Given the description of an element on the screen output the (x, y) to click on. 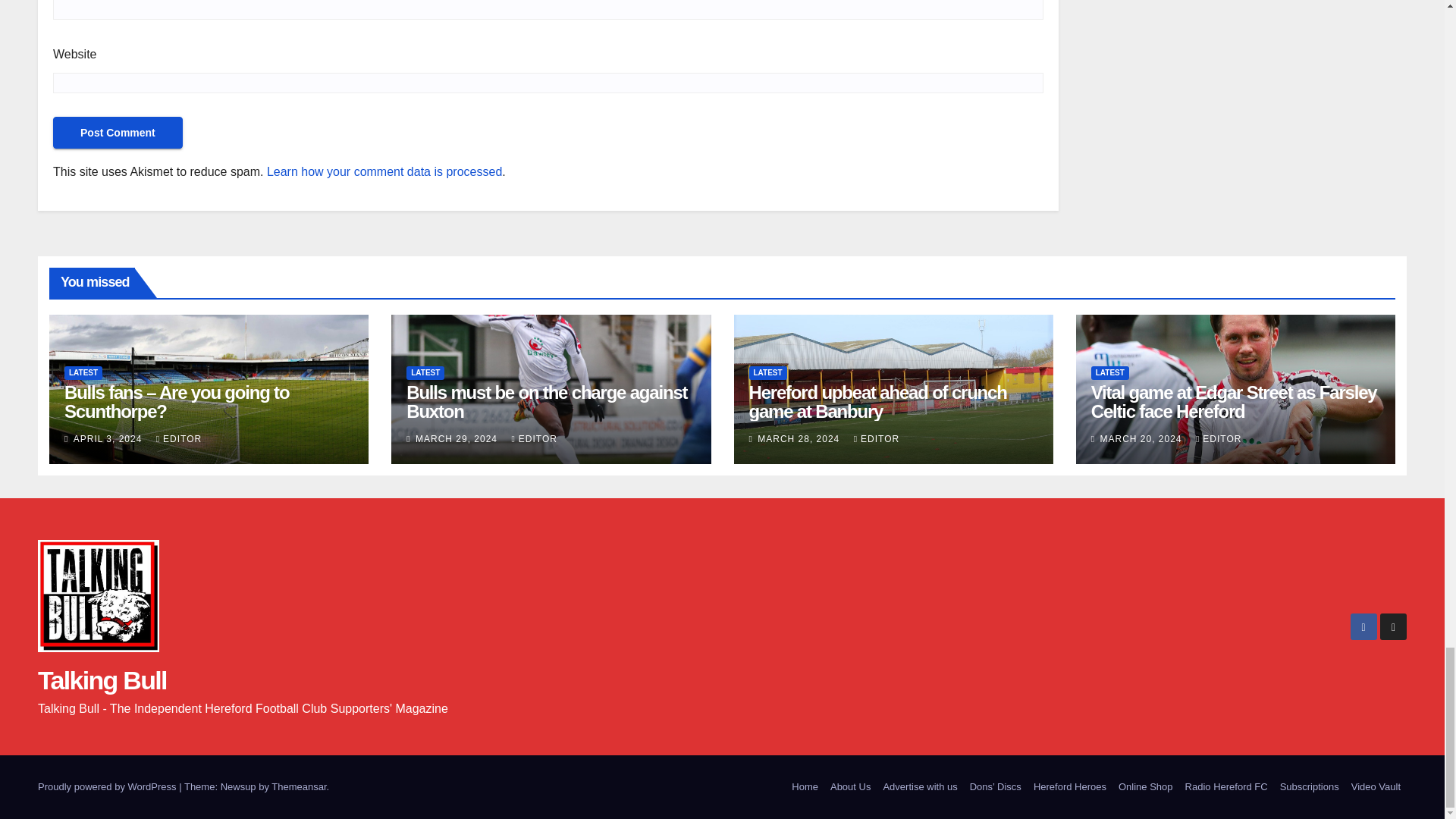
Post Comment (117, 132)
Permalink to: Bulls must be on the charge against Buxton (546, 401)
